Given the description of an element on the screen output the (x, y) to click on. 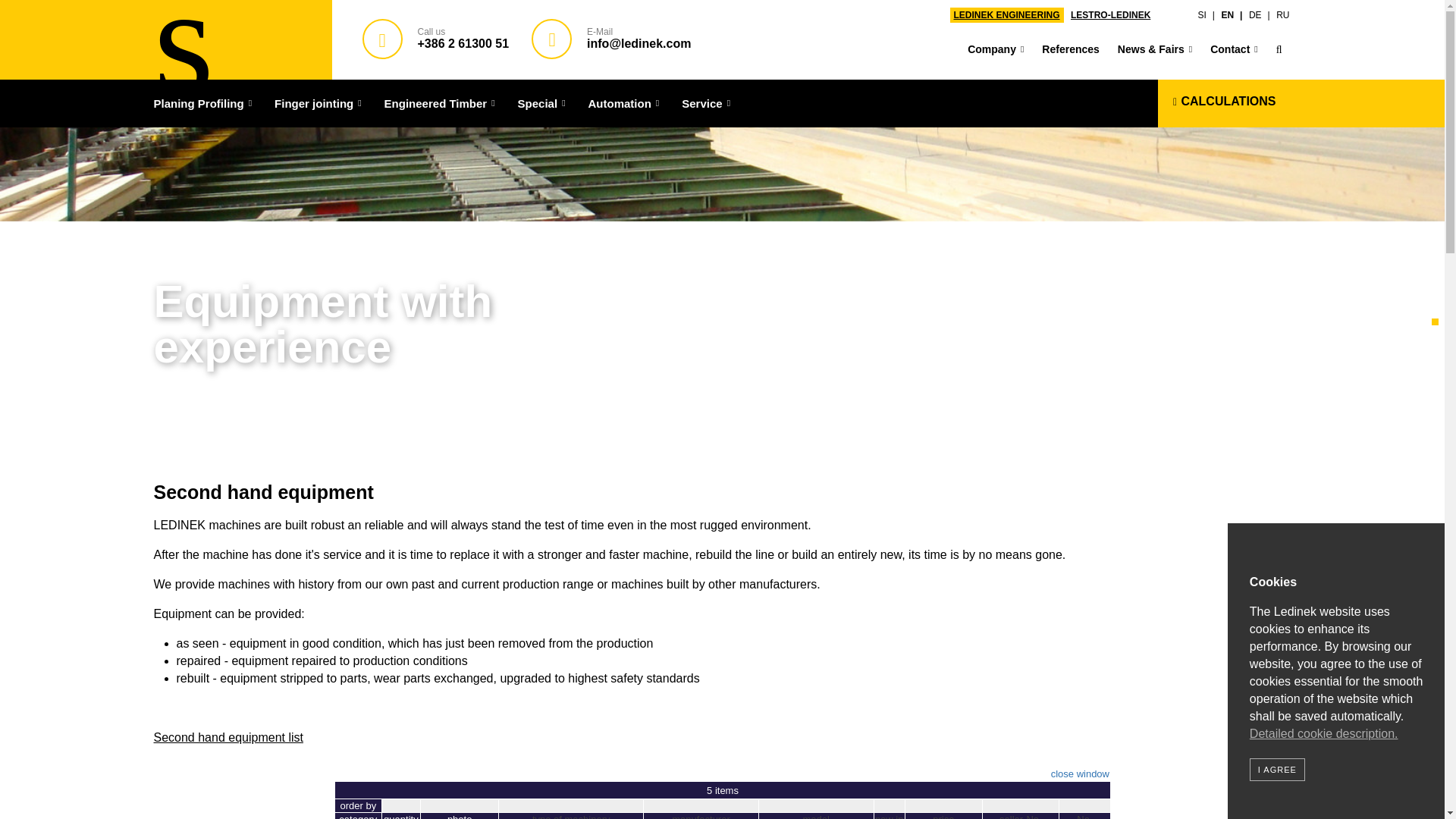
LEDINEK ENGINEERING (1005, 14)
I AGREE (1276, 769)
Company (995, 49)
DE (1259, 15)
EN (1231, 15)
Detailed cookie description. (1323, 733)
LESTRO-LEDINEK (1110, 14)
SI (1205, 15)
Contact (1233, 49)
RU (1282, 15)
